Given the description of an element on the screen output the (x, y) to click on. 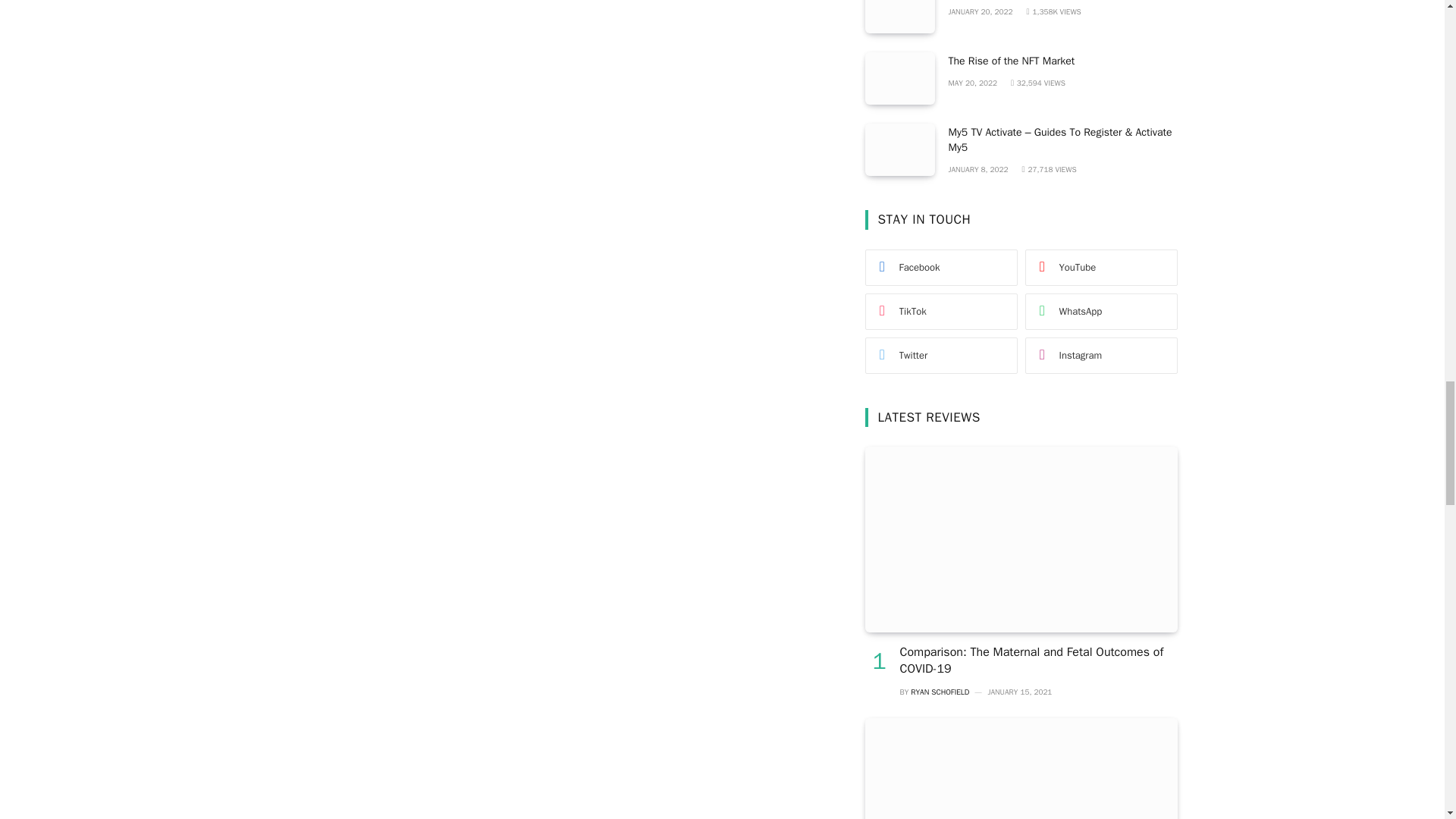
32594 Article Views (1037, 82)
27718 Article Views (1048, 169)
Comparison: The Maternal and Fetal Outcomes of COVID-19 (1020, 539)
12 Types of Insurance That You Need to know (899, 16)
The Rise of the NFT Market (899, 78)
1357672 Article Views (1053, 11)
